Given the description of an element on the screen output the (x, y) to click on. 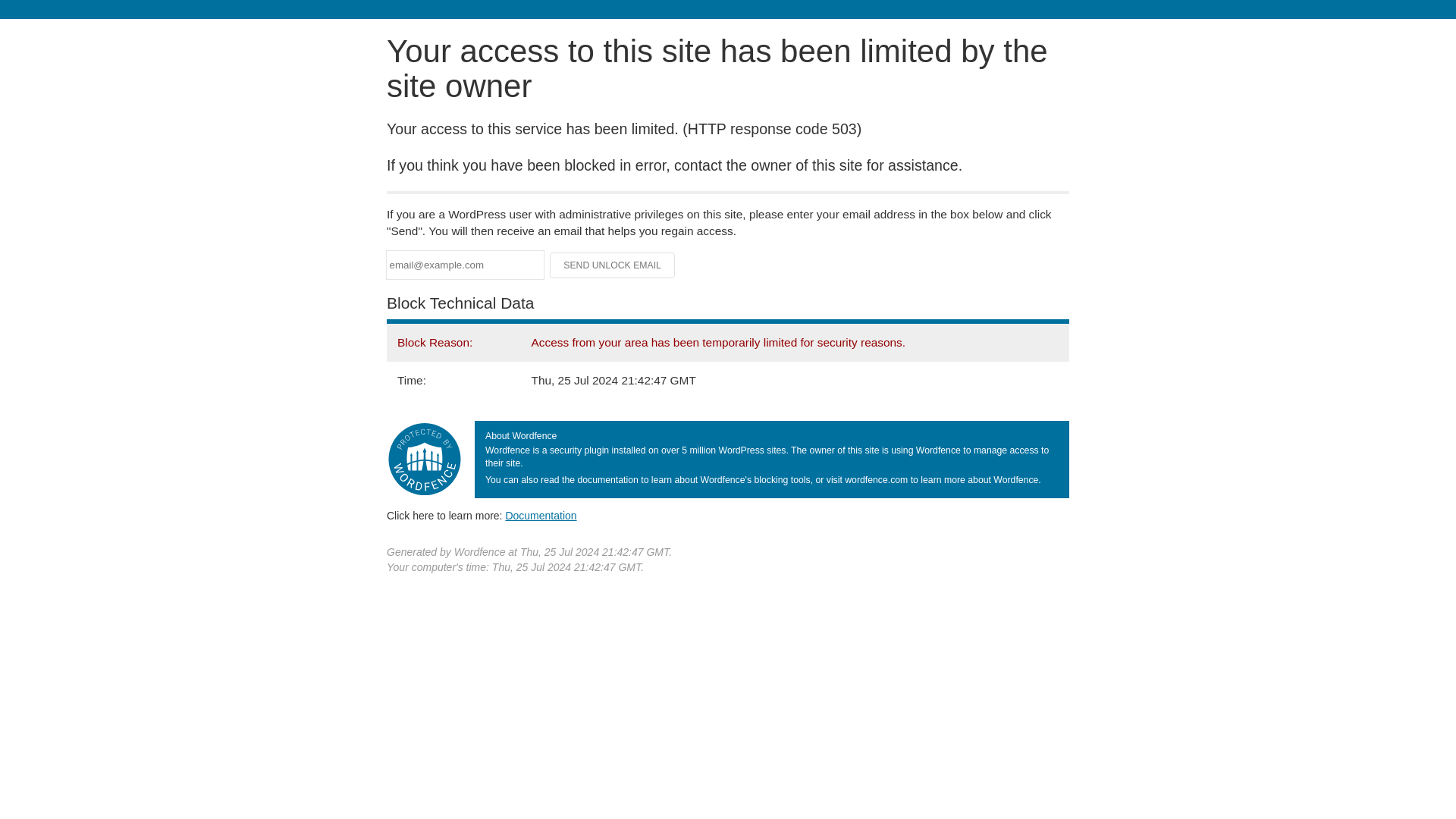
Send Unlock Email (612, 265)
Documentation (540, 515)
Send Unlock Email (612, 265)
